Given the description of an element on the screen output the (x, y) to click on. 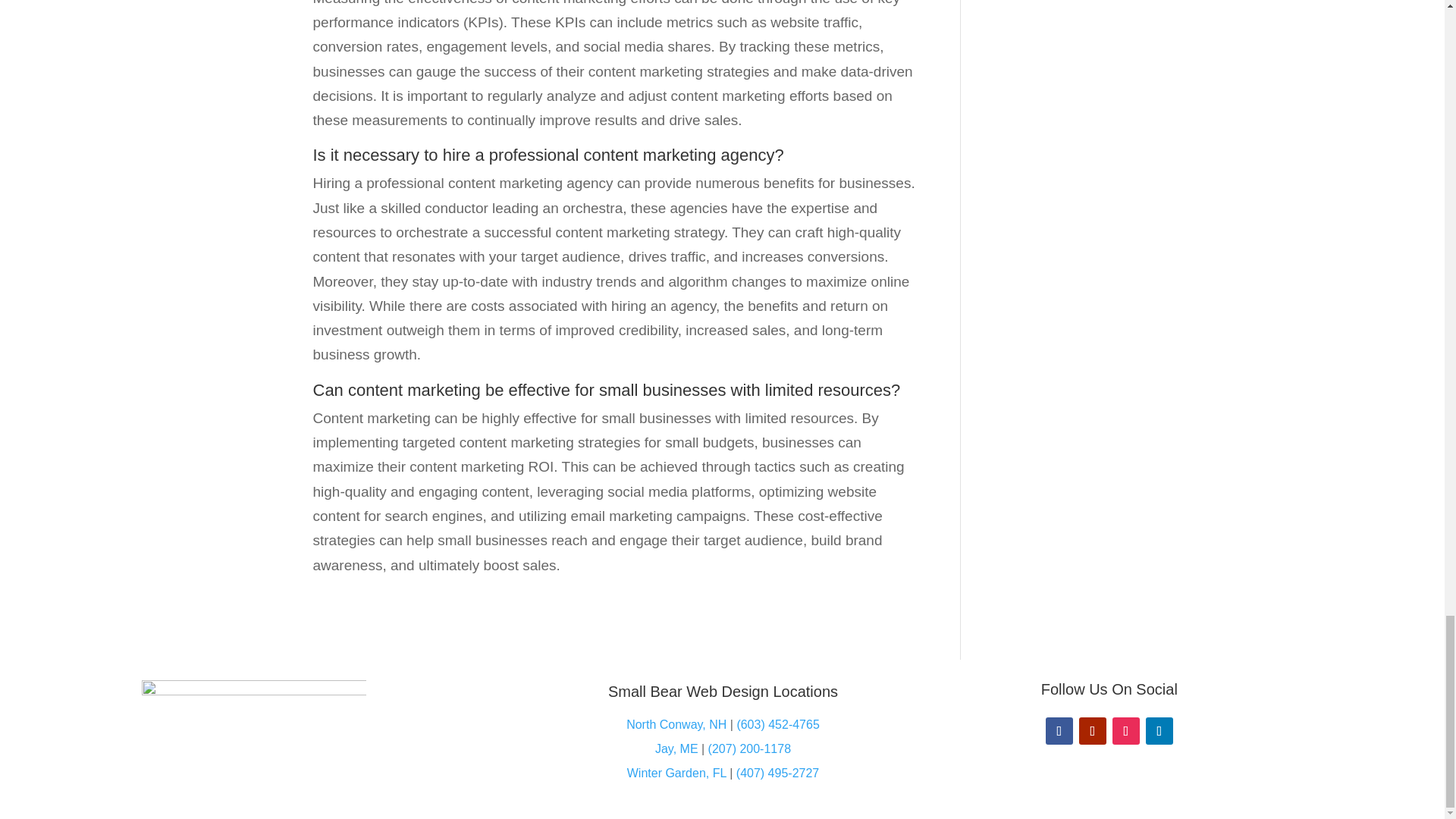
Follow on LinkedIn (1159, 730)
Follow on Instagram (1126, 730)
Follow on Facebook (1059, 730)
Winter Garden, FL (676, 772)
Smallbearlogoblack (253, 739)
Jay, ME (676, 748)
Follow on Youtube (1092, 730)
North Conway, NH (676, 724)
